Given the description of an element on the screen output the (x, y) to click on. 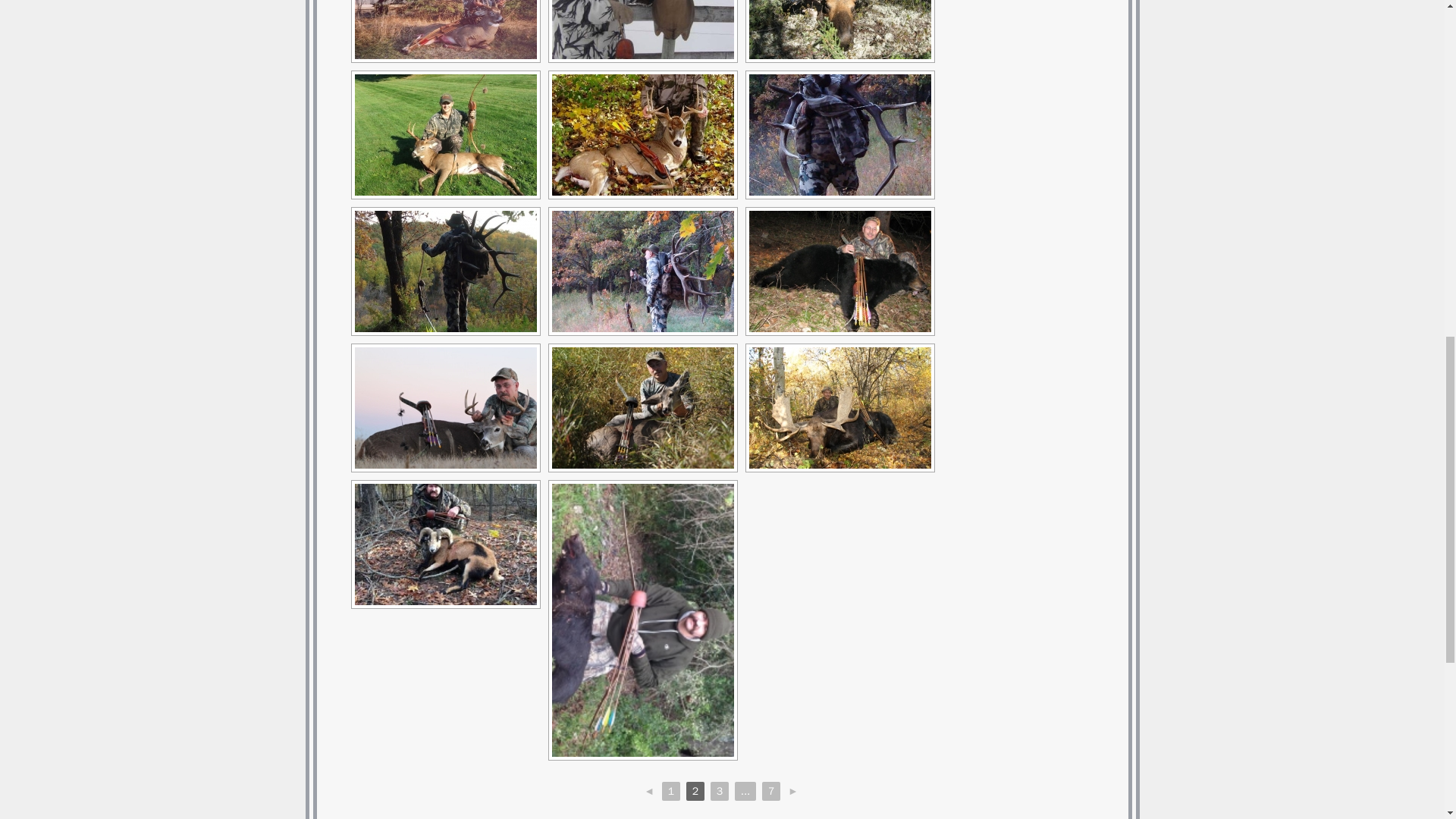
darren chippy (446, 29)
